Given the description of an element on the screen output the (x, y) to click on. 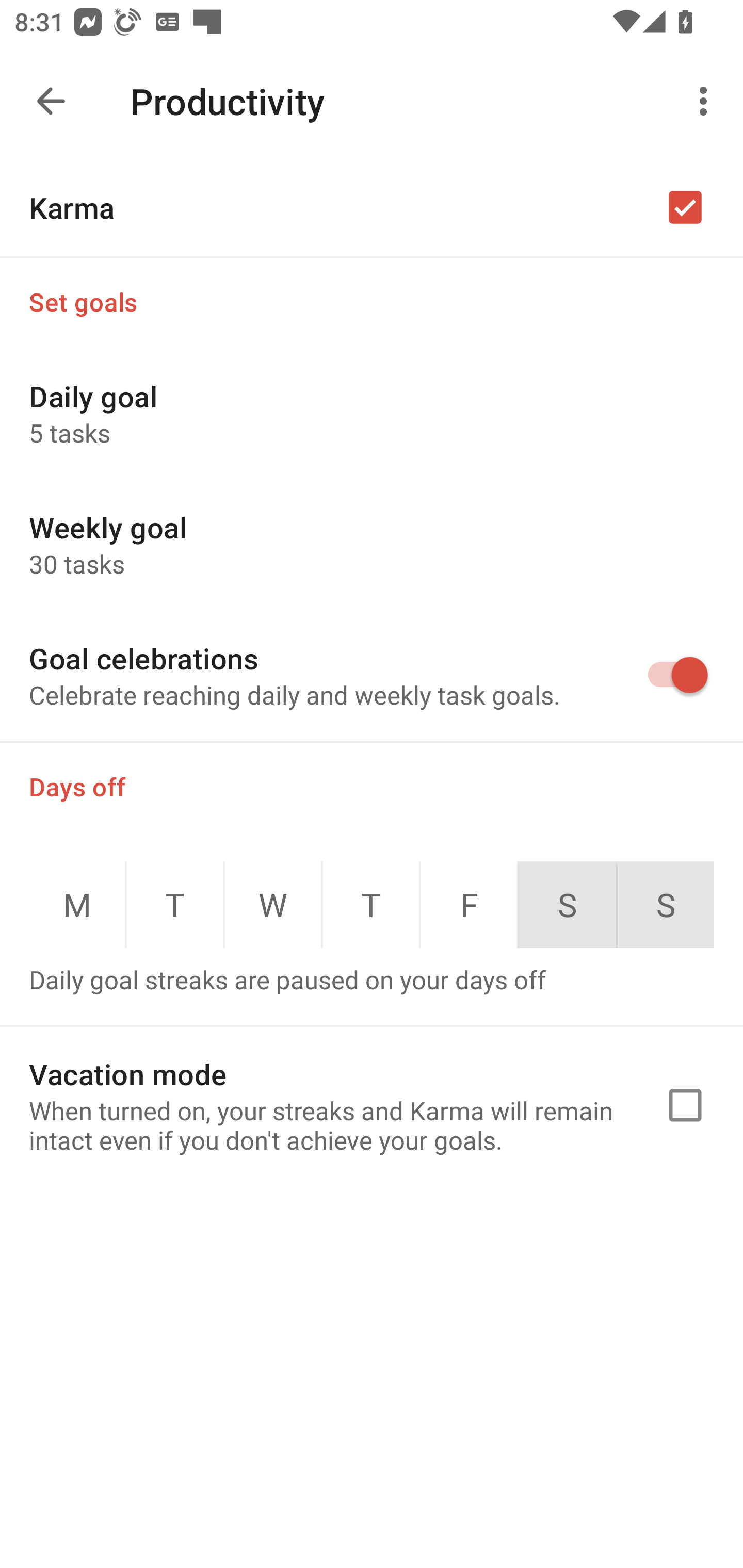
Navigate up (50, 101)
More options (706, 101)
Karma (371, 206)
Daily goal 5 tasks (371, 413)
Weekly goal 30 tasks (371, 543)
M (76, 904)
T (174, 904)
W (272, 904)
T (371, 904)
F (469, 904)
S (567, 904)
S (665, 904)
